Given the description of an element on the screen output the (x, y) to click on. 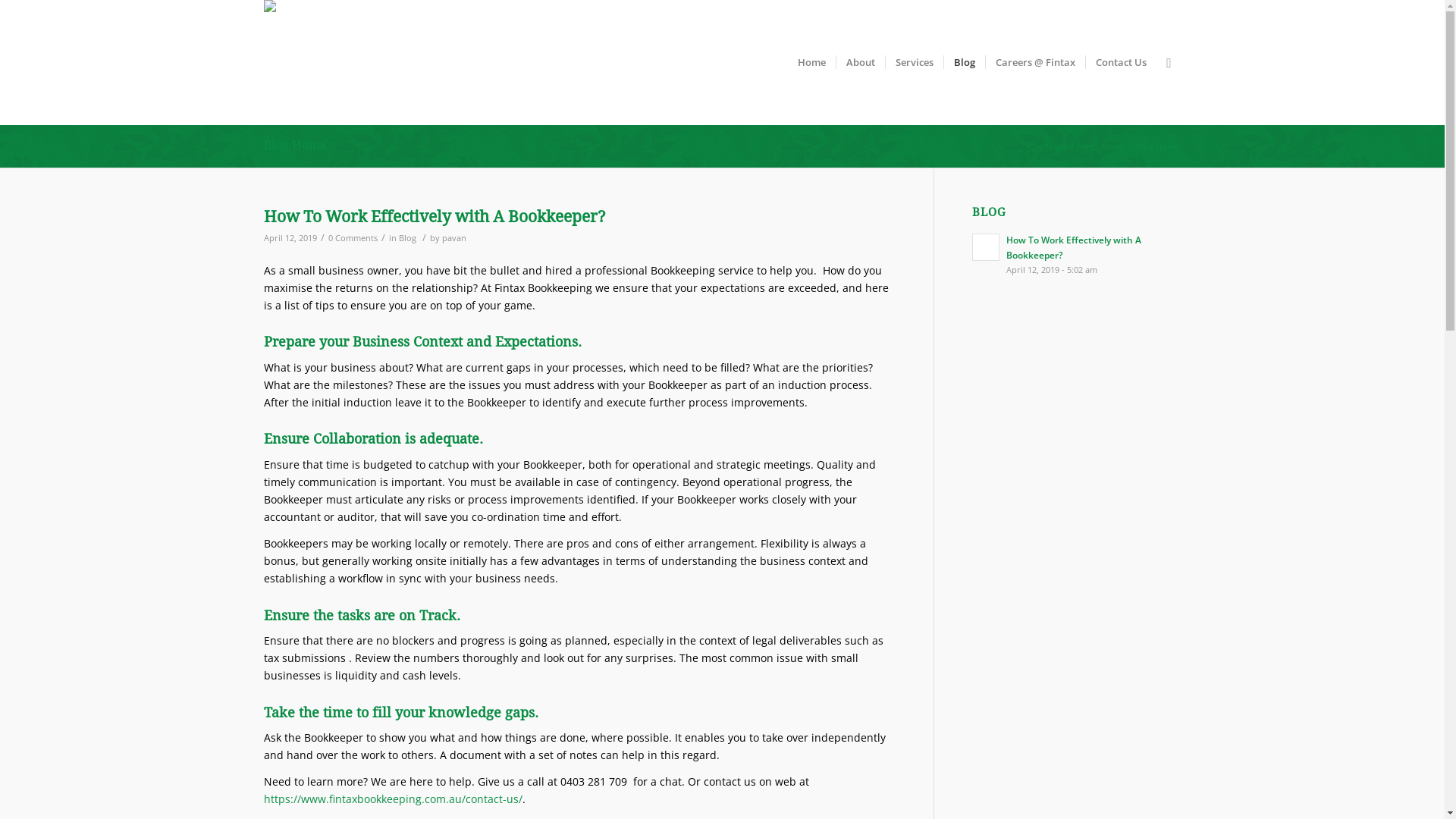
Blog Element type: text (407, 237)
Home Element type: text (811, 62)
Services Element type: text (913, 62)
How To Work Effectively with A Bookkeeper? Element type: text (434, 216)
https://www.fintaxbookkeeping.com.au/contact-us/ Element type: text (392, 798)
Blog Element type: text (964, 62)
Blog Home Element type: text (294, 145)
pavan Element type: text (453, 237)
Careers @ Fintax Element type: text (1035, 62)
Contact Us Element type: text (1120, 62)
0 Comments Element type: text (351, 237)
About Element type: text (859, 62)
Home Element type: text (1113, 145)
